Given the description of an element on the screen output the (x, y) to click on. 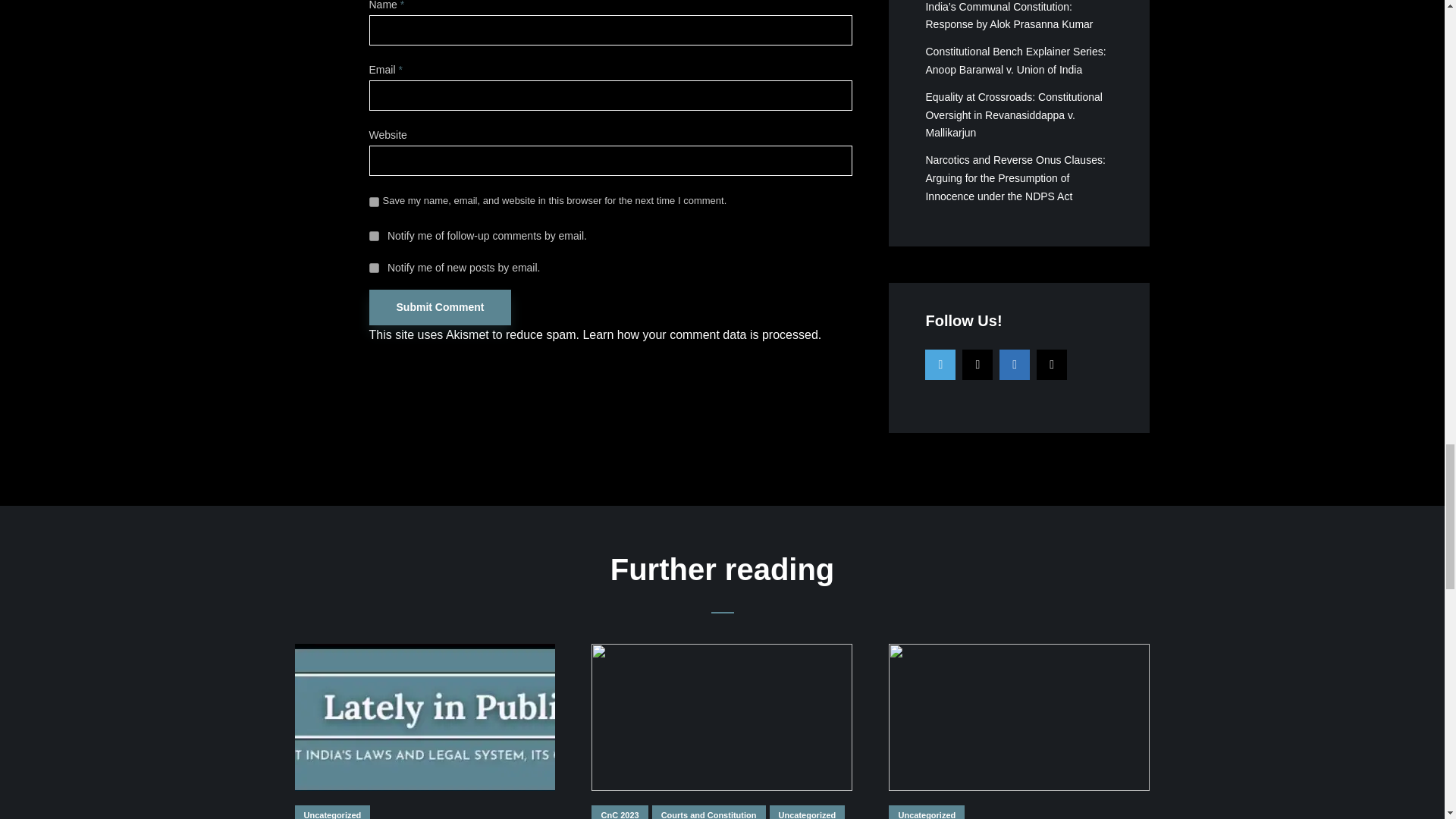
Learn how your comment data is processed (699, 334)
subscribe (373, 267)
Submit Comment (439, 307)
Mail (1051, 364)
Submit Comment (439, 307)
Twitter (939, 364)
Linkedin (1013, 364)
subscribe (373, 235)
Instagram (977, 364)
